Given the description of an element on the screen output the (x, y) to click on. 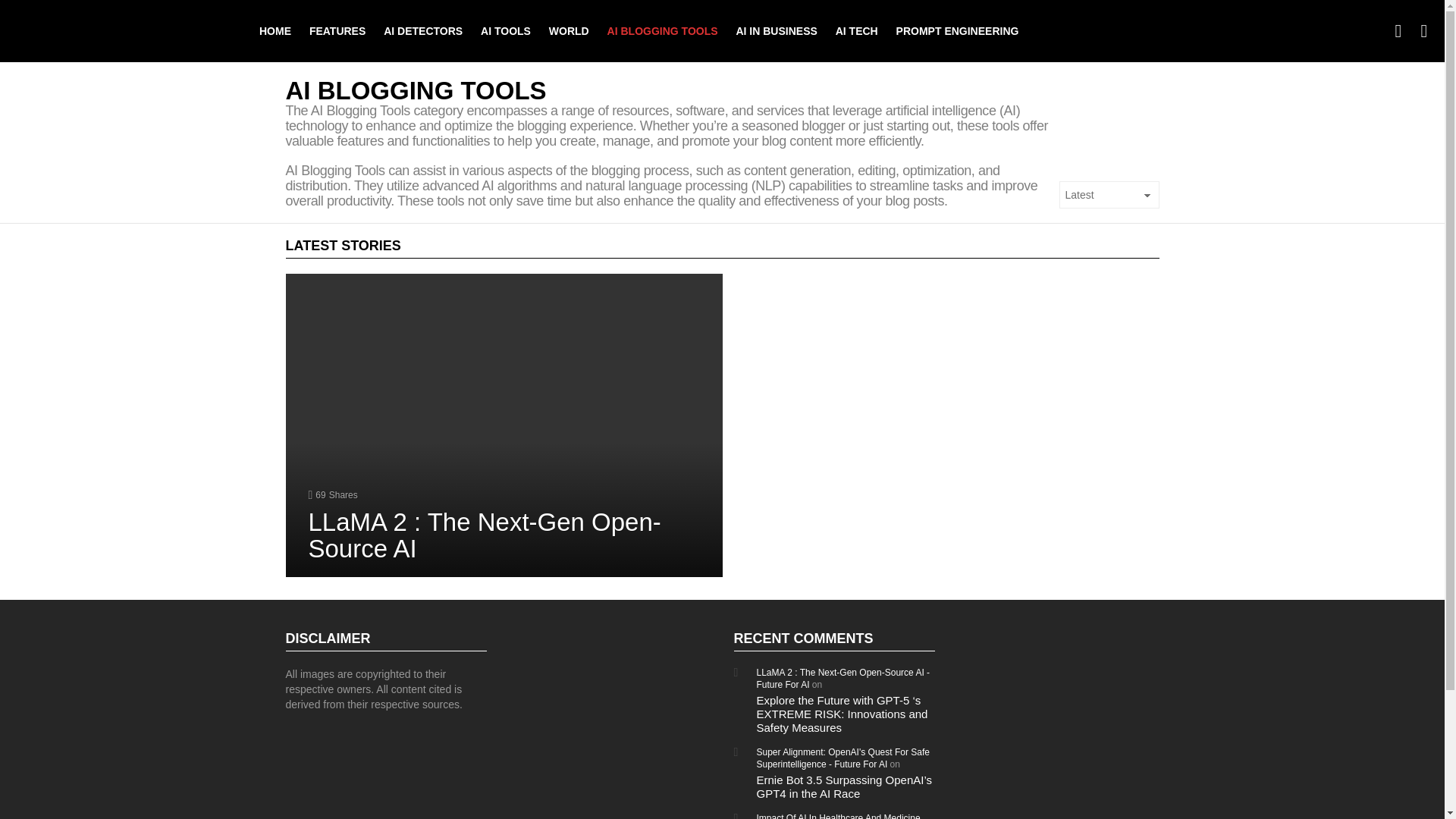
LLaMA 2 : The Next-Gen Open-Source AI - Future For AI (843, 678)
AI IN BUSINESS (776, 30)
FEATURES (336, 30)
AI BLOGGING TOOLS (662, 30)
LLaMA 2 : The Next-Gen Open-Source AI (503, 425)
LLaMA 2 : The Next-Gen Open-Source AI (484, 534)
WORLD (568, 30)
AI DETECTORS (422, 30)
